Given the description of an element on the screen output the (x, y) to click on. 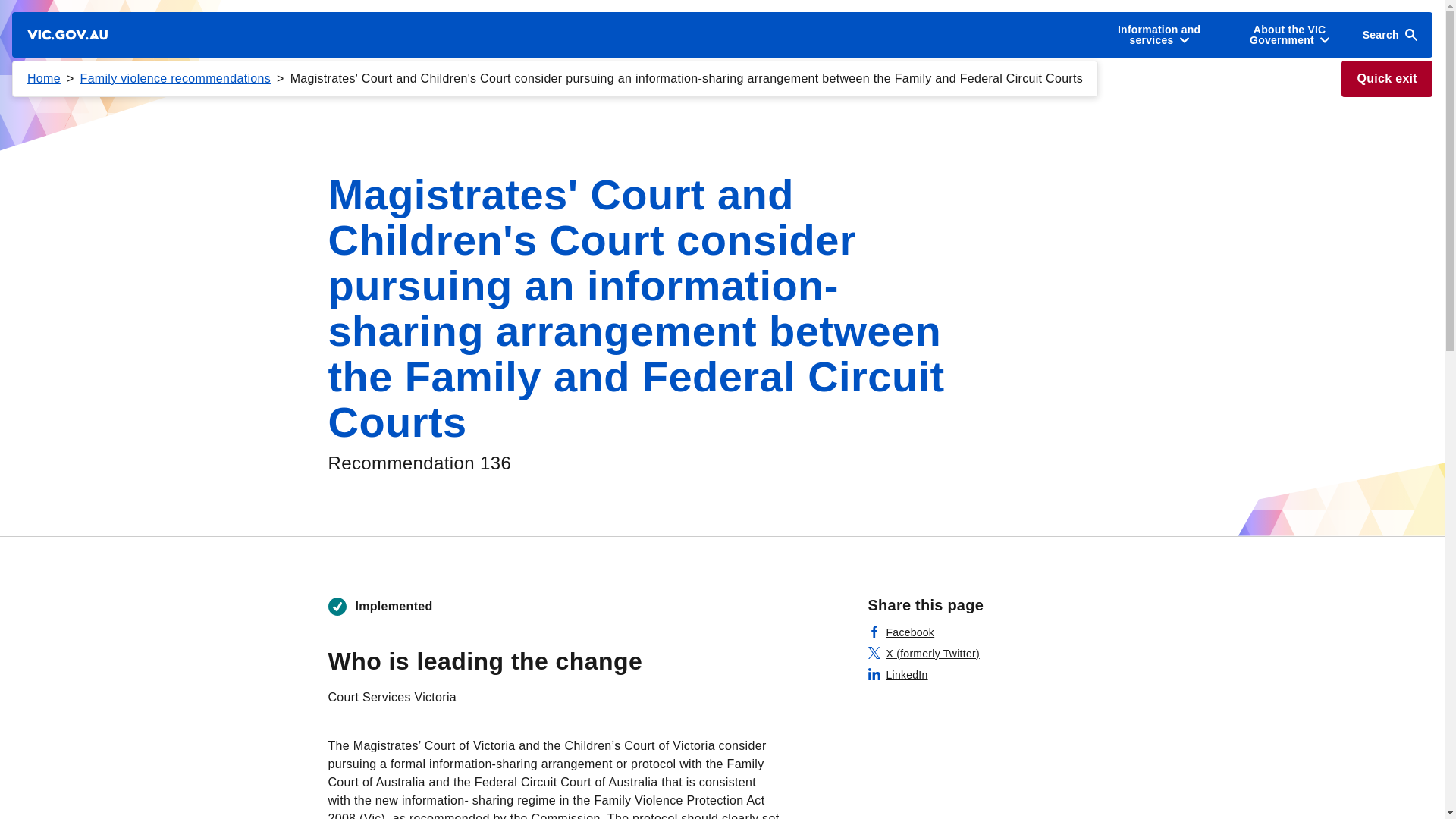
Home (44, 78)
Family violence recommendations (175, 78)
LinkedIn (897, 674)
Quick exit (1386, 78)
Facebook (900, 631)
